Given the description of an element on the screen output the (x, y) to click on. 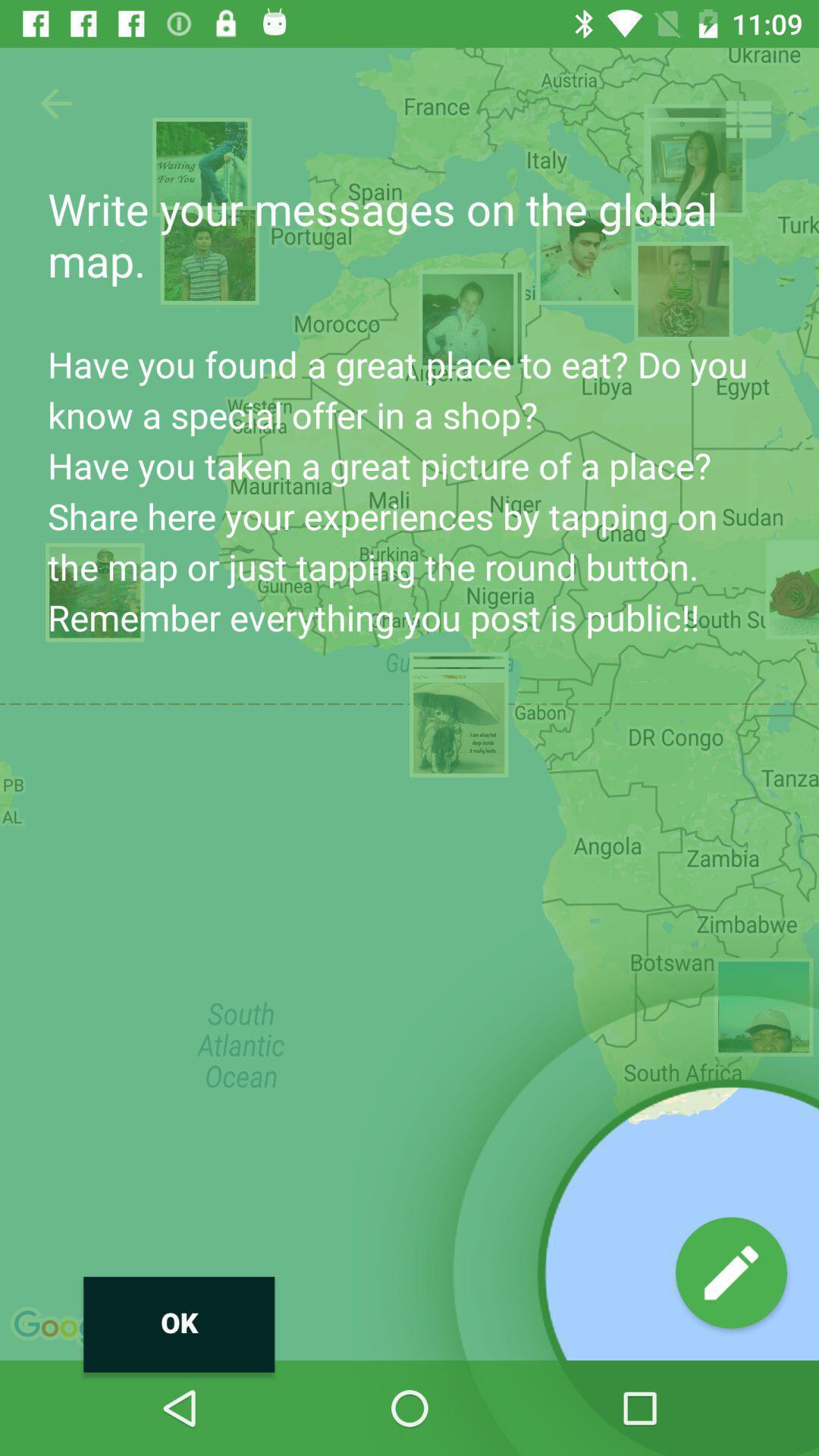
open icon at the center (409, 703)
